Given the description of an element on the screen output the (x, y) to click on. 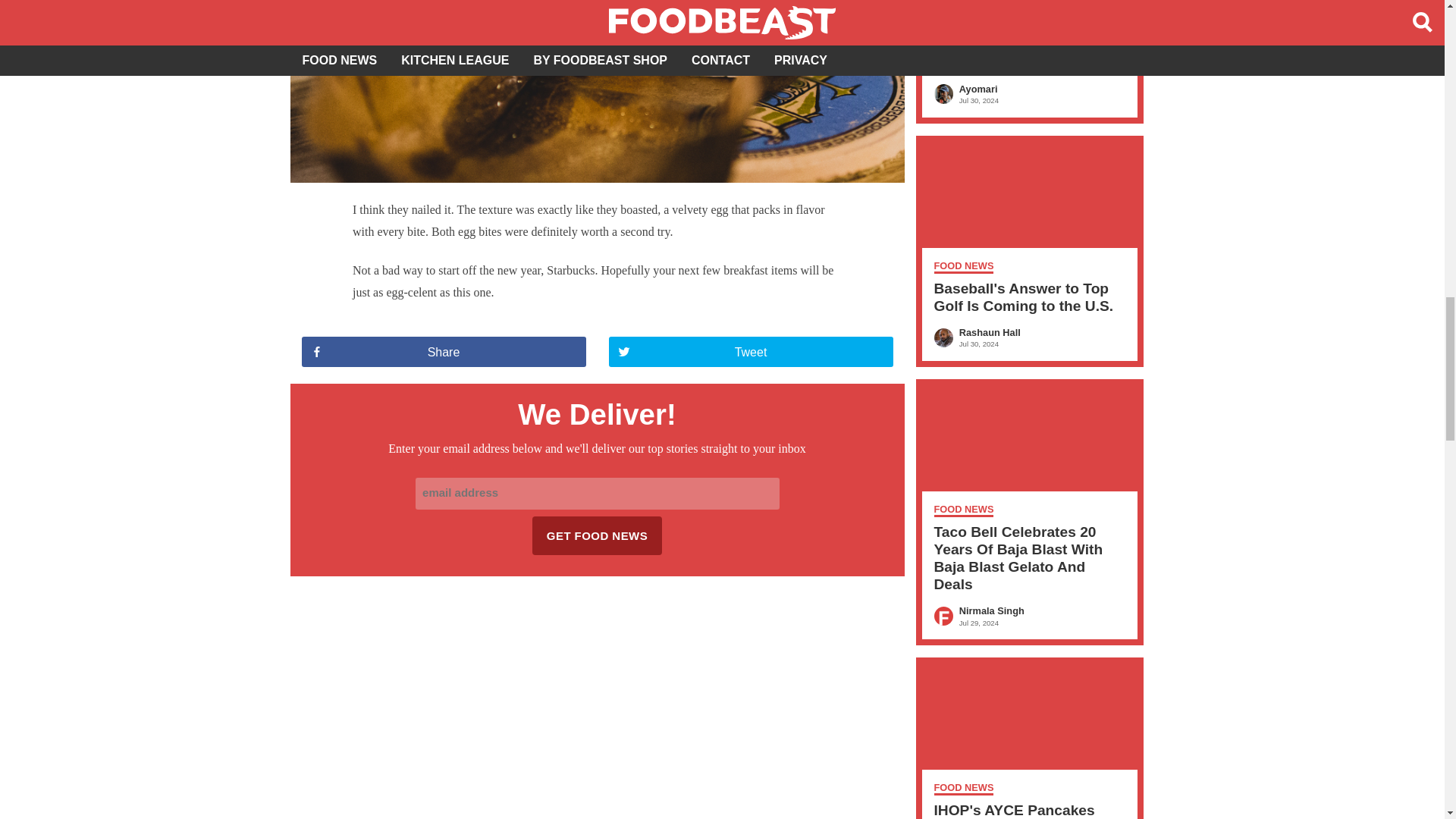
GET FOOD NEWS (597, 535)
GET FOOD NEWS (597, 535)
Share (443, 351)
Tweet (750, 351)
